Given the description of an element on the screen output the (x, y) to click on. 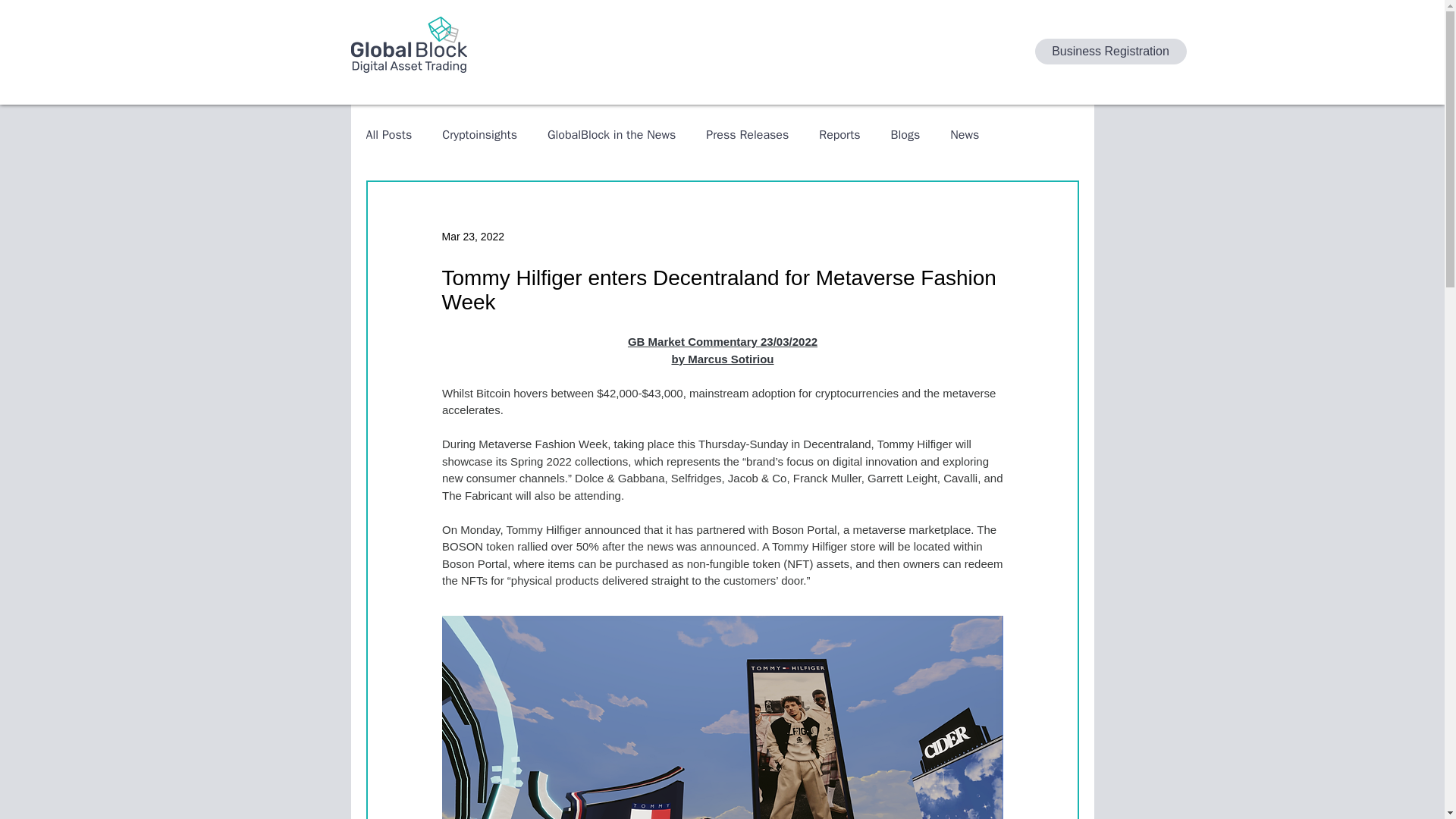
Business Registration (1109, 51)
Press Releases (747, 135)
Reports (839, 135)
Blogs (905, 135)
GlobalBlock in the News (611, 135)
News (964, 135)
Mar 23, 2022 (472, 236)
All Posts (388, 135)
Cryptoinsights (479, 135)
